Given the description of an element on the screen output the (x, y) to click on. 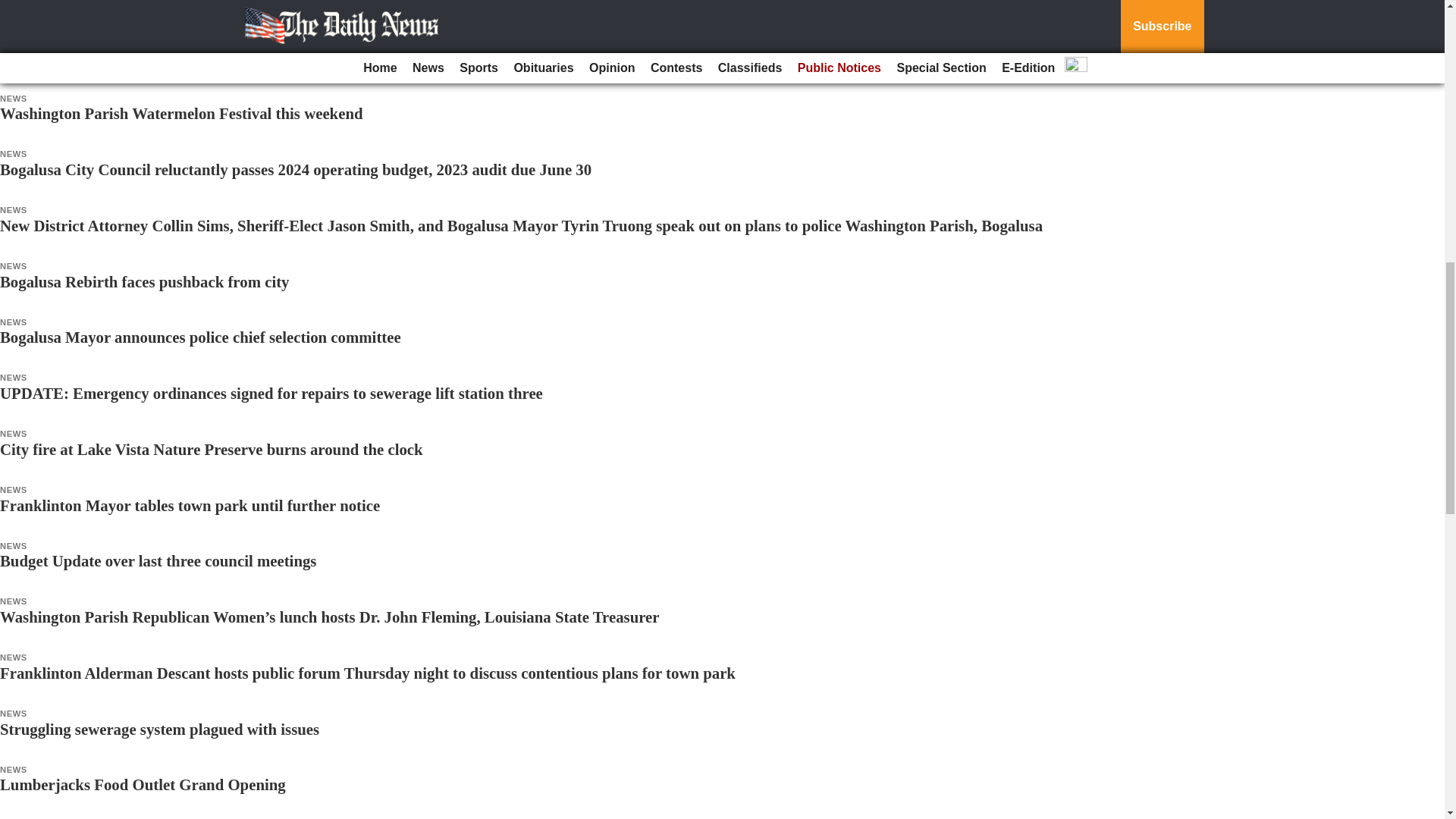
Lumberjacks Food Outlet Grand Opening (142, 784)
Franklinton Mayor tables town park until further notice (190, 505)
Bogalusa Mayor announces police chief selection committee (200, 336)
Franklinton Mayor tables town park until further notice (190, 505)
Struggling sewerage system plagued with issues (159, 728)
Washington Parish Watermelon Festival this weekend (181, 113)
